Given the description of an element on the screen output the (x, y) to click on. 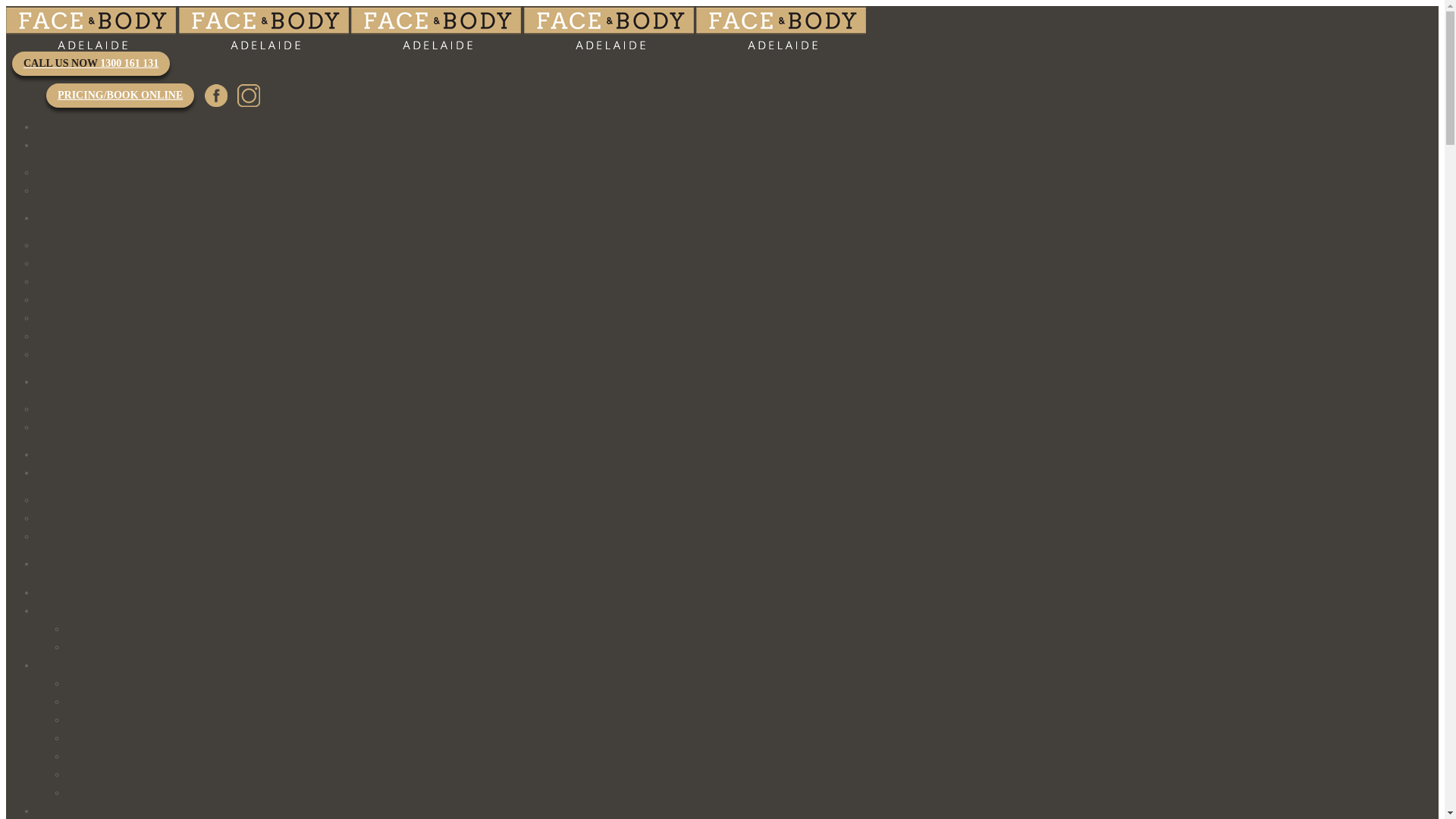
PRICING/BOOK ONLINE Element type: text (120, 95)
Dermal Fillers Element type: text (97, 719)
About Element type: text (49, 610)
Home Element type: text (55, 126)
About Element type: text (60, 145)
Injectables Element type: text (68, 217)
Contact Element type: text (58, 563)
IV Vitamin Element type: text (64, 454)
Lip Fillers Element type: text (88, 774)
Jaw Clenching Element type: text (67, 317)
Anti Wrinkle Injections Element type: text (86, 245)
Anti Wrinkle Injections Element type: text (116, 683)
Excessive Sweating/Hyperhidrosis Element type: text (140, 737)
Injectables Element type: text (59, 665)
Thread Lift Element type: text (60, 499)
Laser Treatments Element type: text (78, 381)
Laser Pigmentation Treatment Element type: text (100, 427)
Chemical Peels Element type: text (69, 536)
Ultraceuticals Element type: text (65, 518)
Jaw Clenching Element type: text (97, 756)
CALL US NOW 1300 161 131 Element type: text (90, 63)
Laser Genesis Element type: text (66, 408)
Dermal Fillers Element type: text (66, 281)
Skin Needling Dermapen 4 Element type: text (94, 354)
Chin Fat Reduction Element type: text (77, 263)
Lip Fillers Element type: text (58, 336)
Home Element type: text (49, 592)
Excessive Sweating/Hyperhidrosis Element type: text (110, 299)
Chin Fat Reduction Element type: text (108, 701)
Team/Staff Element type: text (89, 628)
Laser Treatments Element type: text (72, 810)
Blog Element type: text (46, 190)
Team/Staff Element type: text (59, 172)
Skin Treatments Element type: text (77, 472)
Blog Element type: text (76, 646)
Skin Needling Dermapen 4 Element type: text (124, 792)
